Given the description of an element on the screen output the (x, y) to click on. 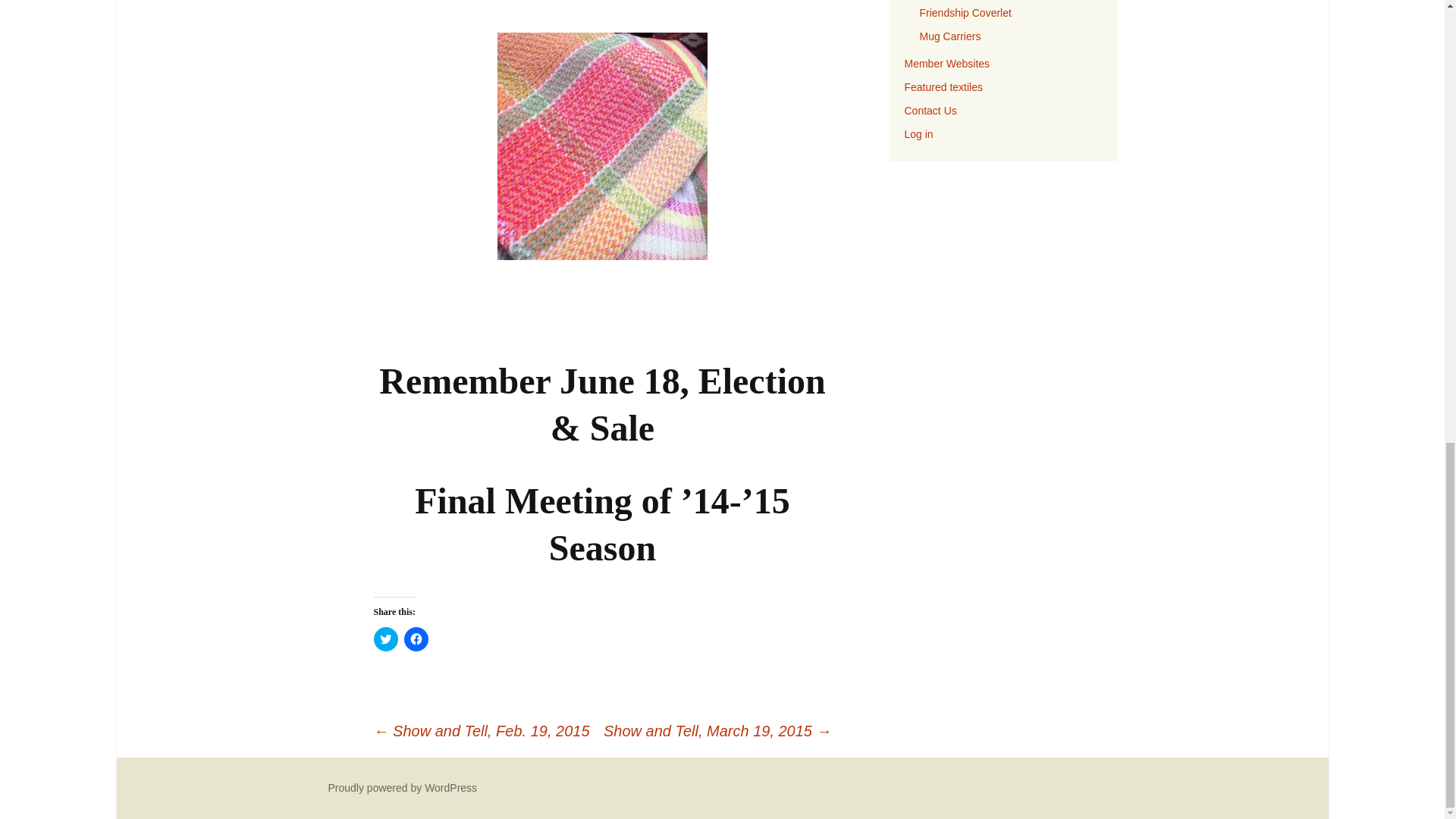
Click to share on Facebook (415, 639)
Click to share on Twitter (384, 639)
